Given the description of an element on the screen output the (x, y) to click on. 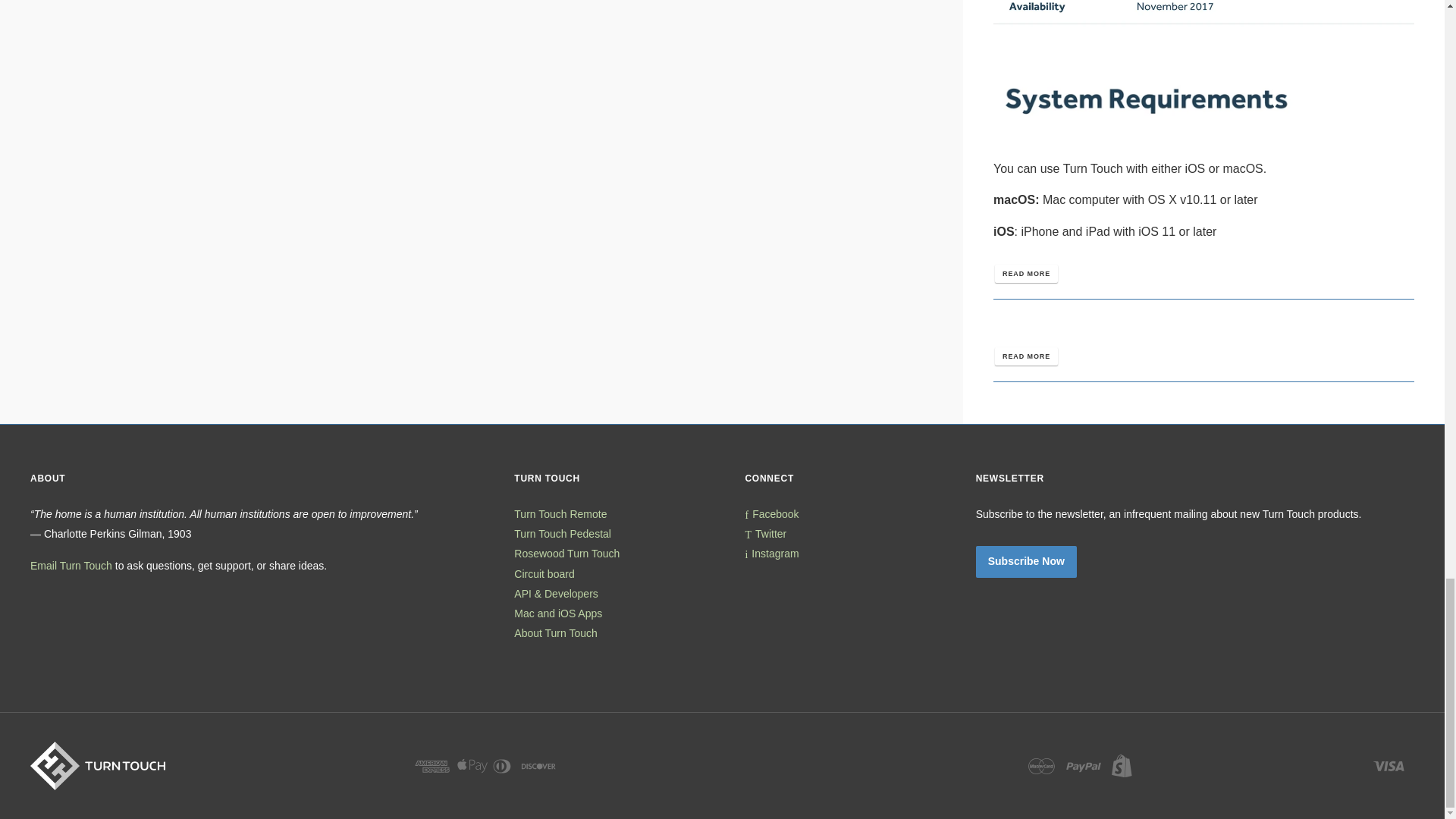
Turn Touch Pedestal (562, 533)
Circuit board (543, 573)
Rosewood Turn Touch (566, 553)
READ MORE (1026, 356)
Turn Touch Remote (560, 513)
READ MORE (1026, 273)
Email Turn Touch (71, 565)
